Given the description of an element on the screen output the (x, y) to click on. 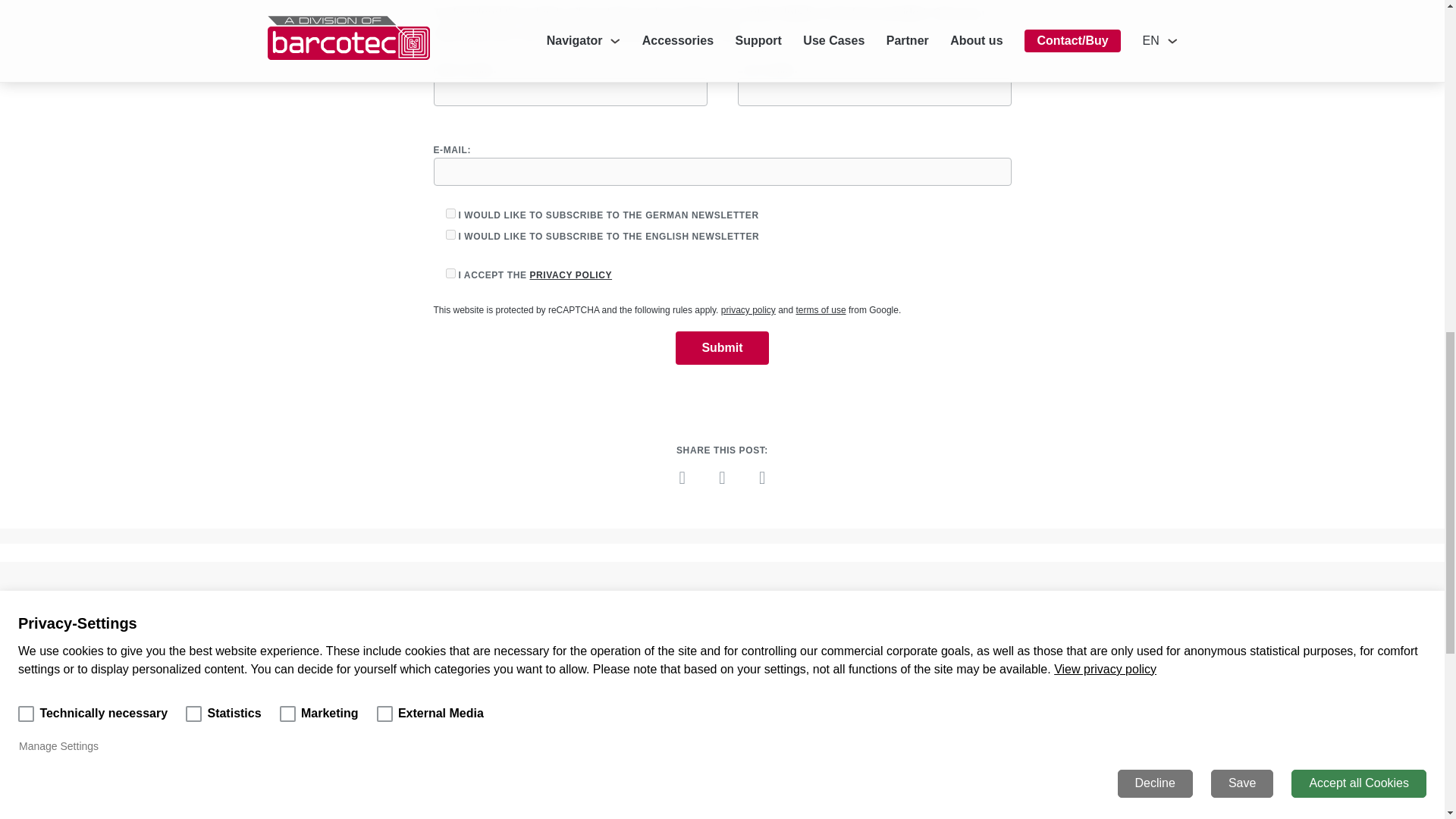
Submit (721, 347)
Share on LinkedIn (877, 633)
I would like to subscribe to the German newsletter (681, 477)
Submit (450, 213)
Share on Twitter (721, 347)
terms of use (721, 477)
1 (820, 309)
PRIVACY POLICY (450, 273)
privacy policy (570, 275)
